Given the description of an element on the screen output the (x, y) to click on. 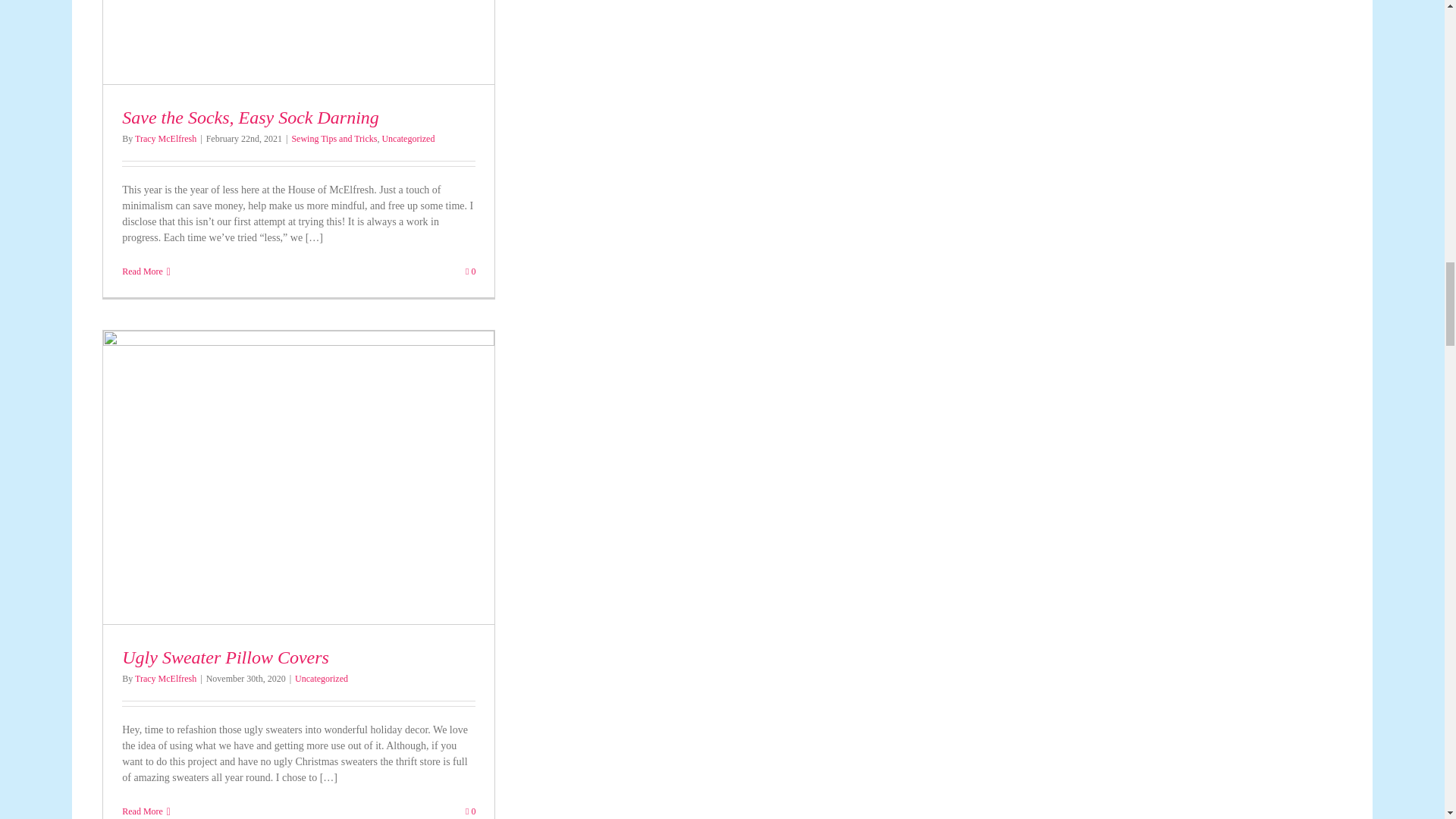
Posts by Tracy McElfresh (165, 678)
Posts by Tracy McElfresh (165, 138)
